Given the description of an element on the screen output the (x, y) to click on. 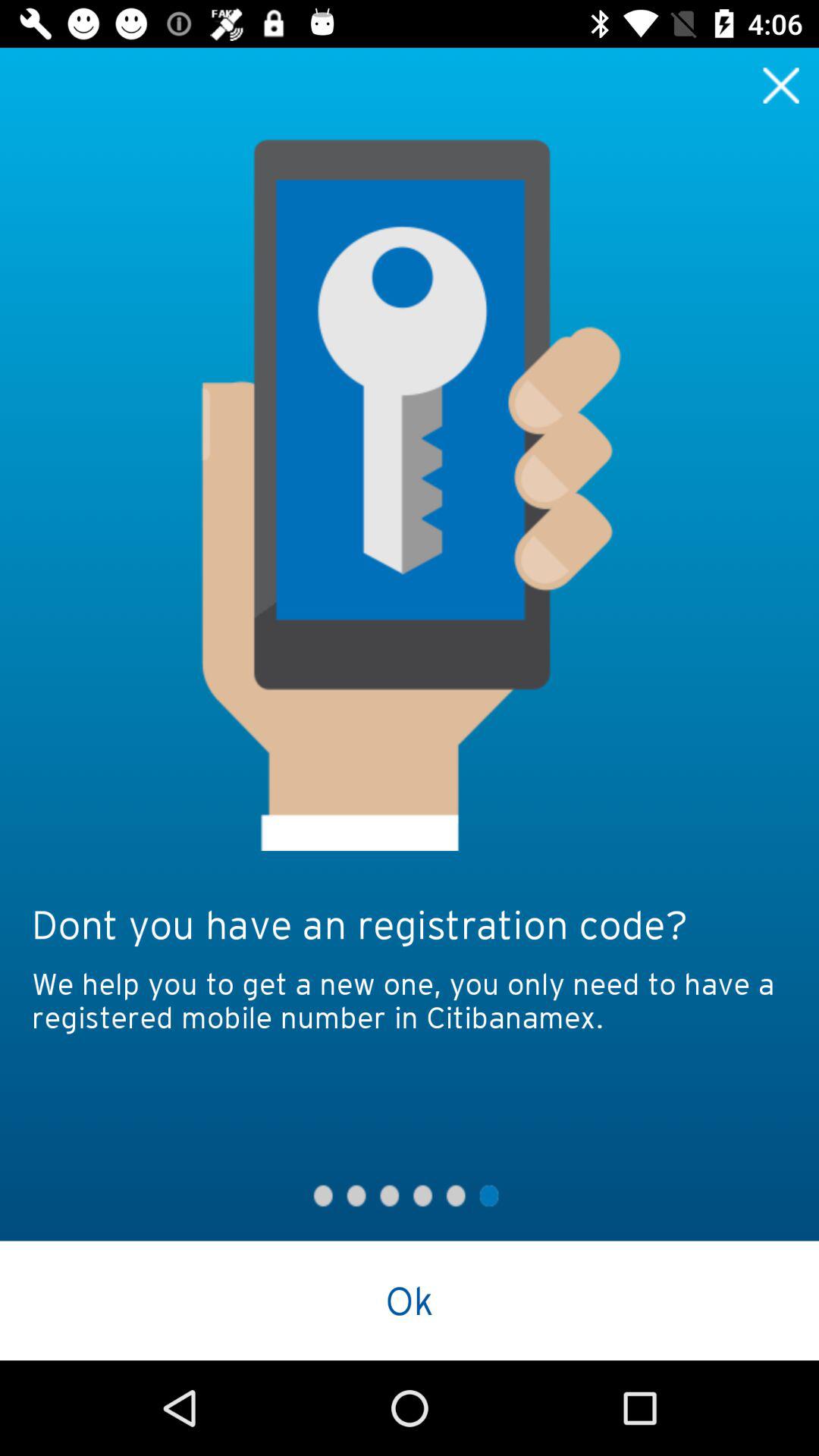
to close (781, 85)
